Given the description of an element on the screen output the (x, y) to click on. 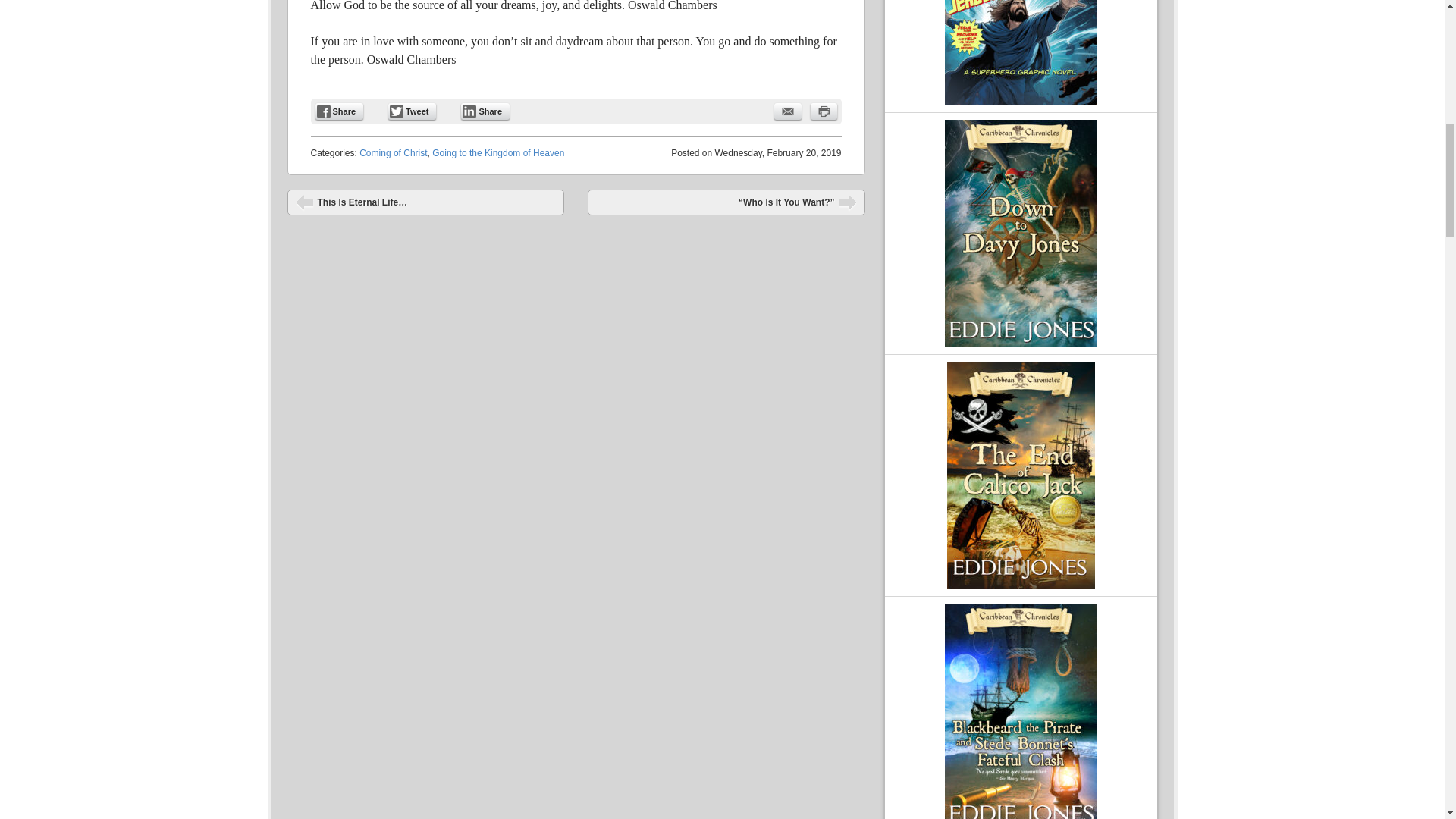
Tweet (411, 111)
Share (339, 111)
Going to the Kingdom of Heaven (498, 153)
Share (485, 111)
Share on Facebook (339, 111)
Coming of Christ (392, 153)
Share on LinkedIn (485, 111)
Tweet this Post (411, 111)
print (822, 111)
email (786, 111)
